Given the description of an element on the screen output the (x, y) to click on. 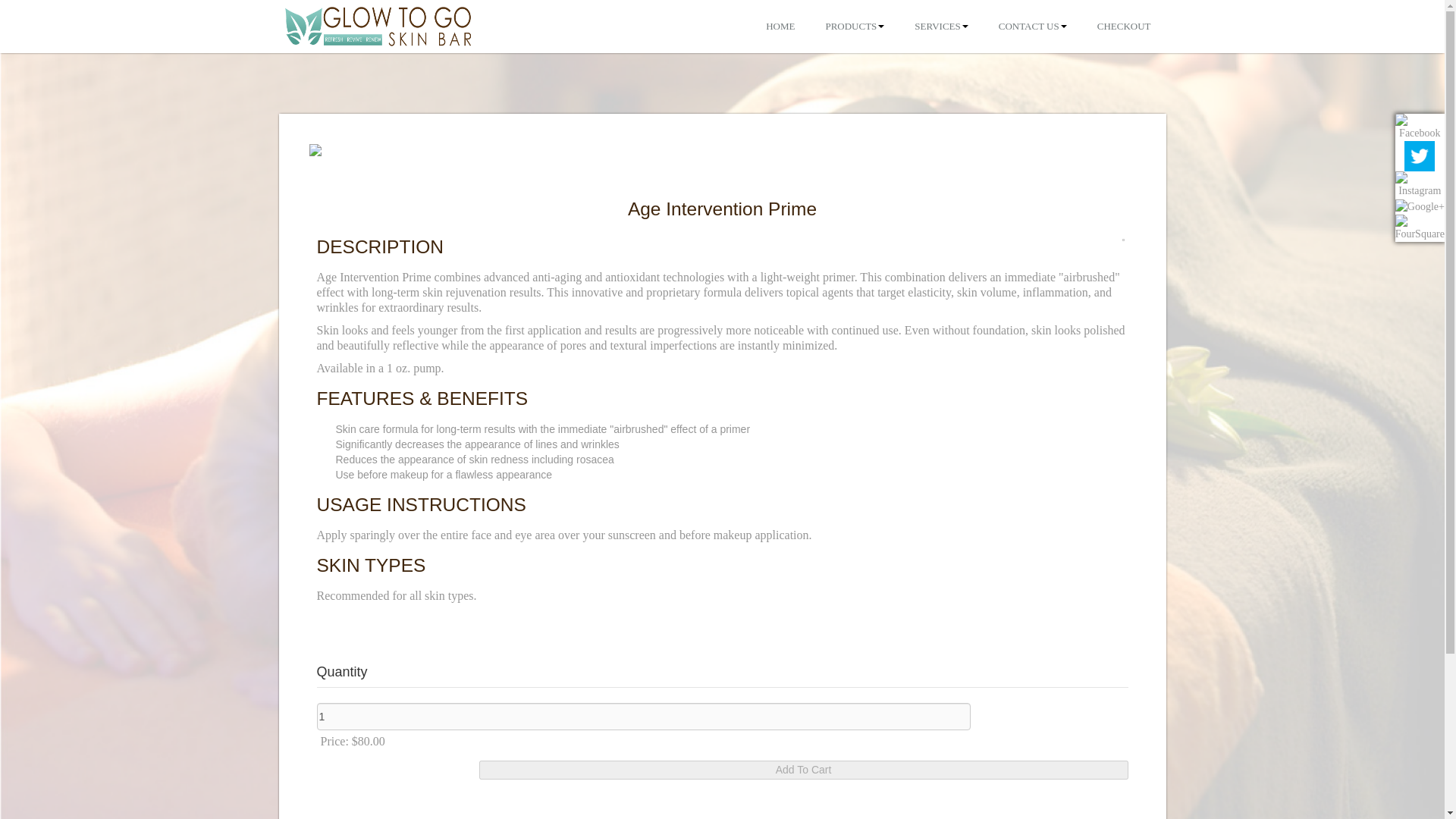
CONTACT US (1032, 26)
SERVICES (940, 26)
Add To Cart (803, 769)
Add To Cart (803, 769)
1 (644, 716)
PRODUCTS (854, 26)
HOME (780, 26)
CHECKOUT (1123, 26)
